Given the description of an element on the screen output the (x, y) to click on. 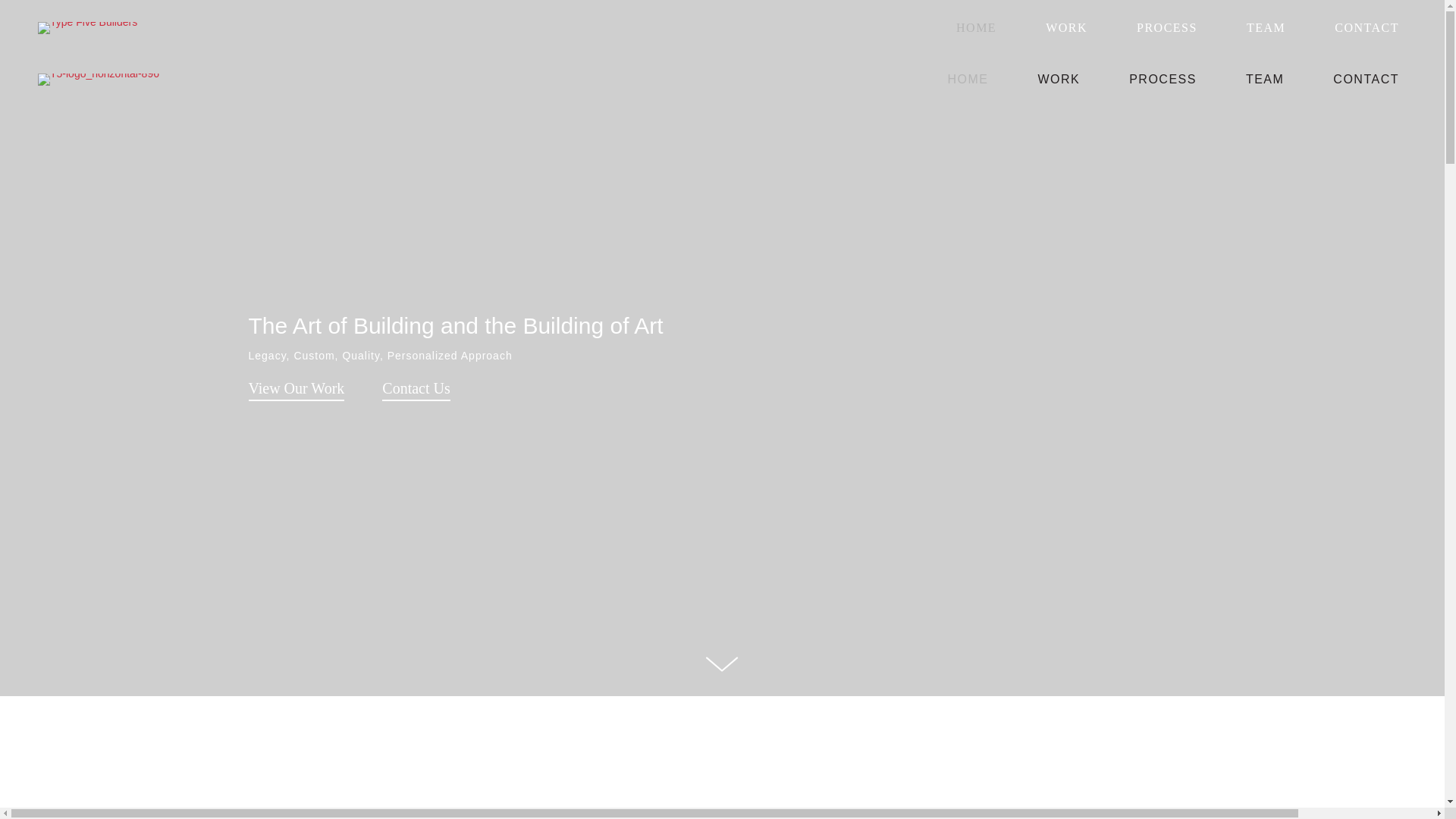
HOME (976, 27)
CONTACT (1365, 79)
WORK (1058, 79)
CONTACT (1366, 27)
PROCESS (1167, 27)
WORK (1066, 27)
TEAM (1265, 79)
HOME (967, 79)
TEAM (1265, 27)
PROCESS (1162, 79)
